Given the description of an element on the screen output the (x, y) to click on. 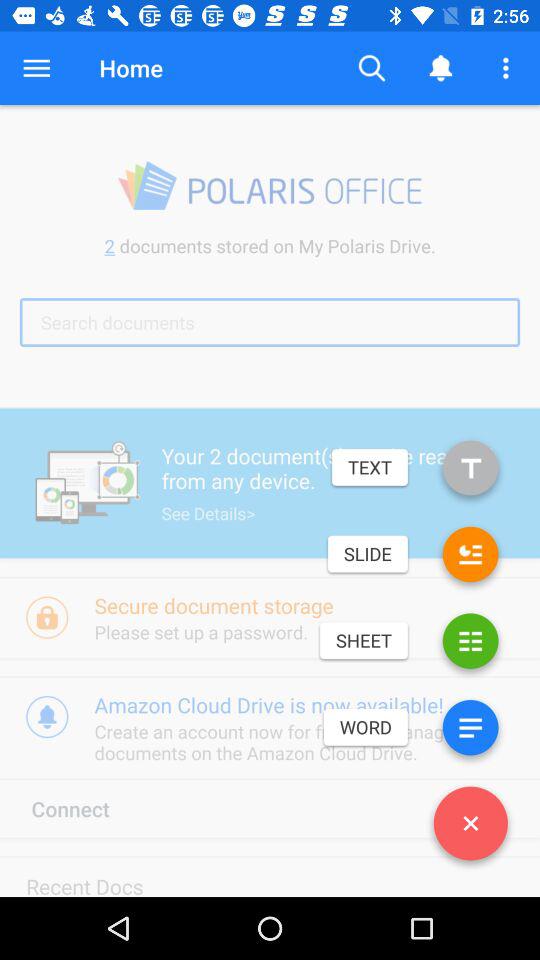
click red x (470, 827)
